Given the description of an element on the screen output the (x, y) to click on. 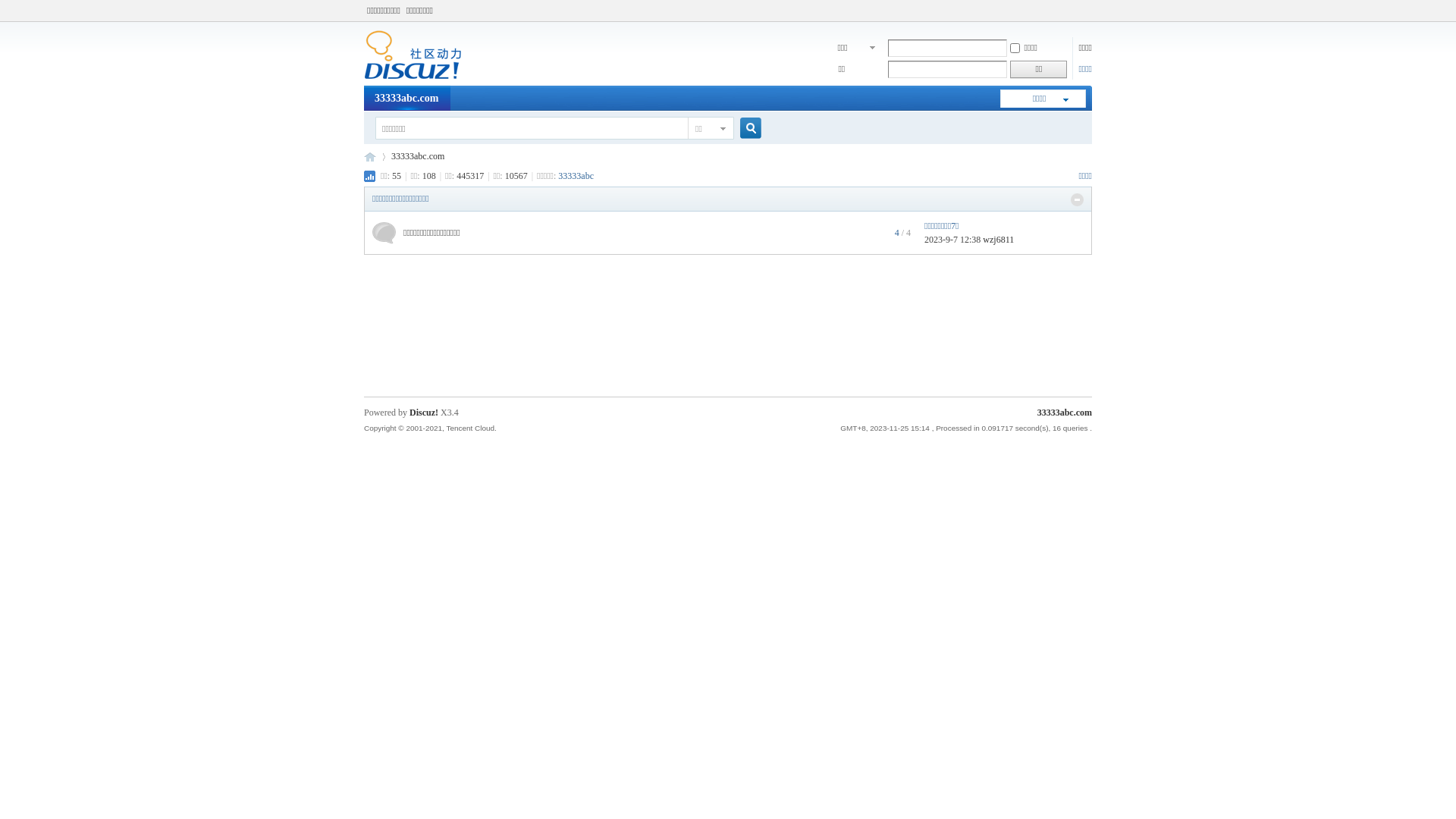
Discuz! Element type: text (423, 412)
33333abc.com Element type: text (370, 156)
true Element type: text (745, 128)
33333abc Element type: text (575, 175)
33333abc.com Element type: hover (412, 76)
33333abc.com Element type: text (1064, 412)
wzj6811 Element type: text (997, 239)
33333abc.com Element type: text (417, 156)
33333abc.com Element type: text (406, 97)
